Given the description of an element on the screen output the (x, y) to click on. 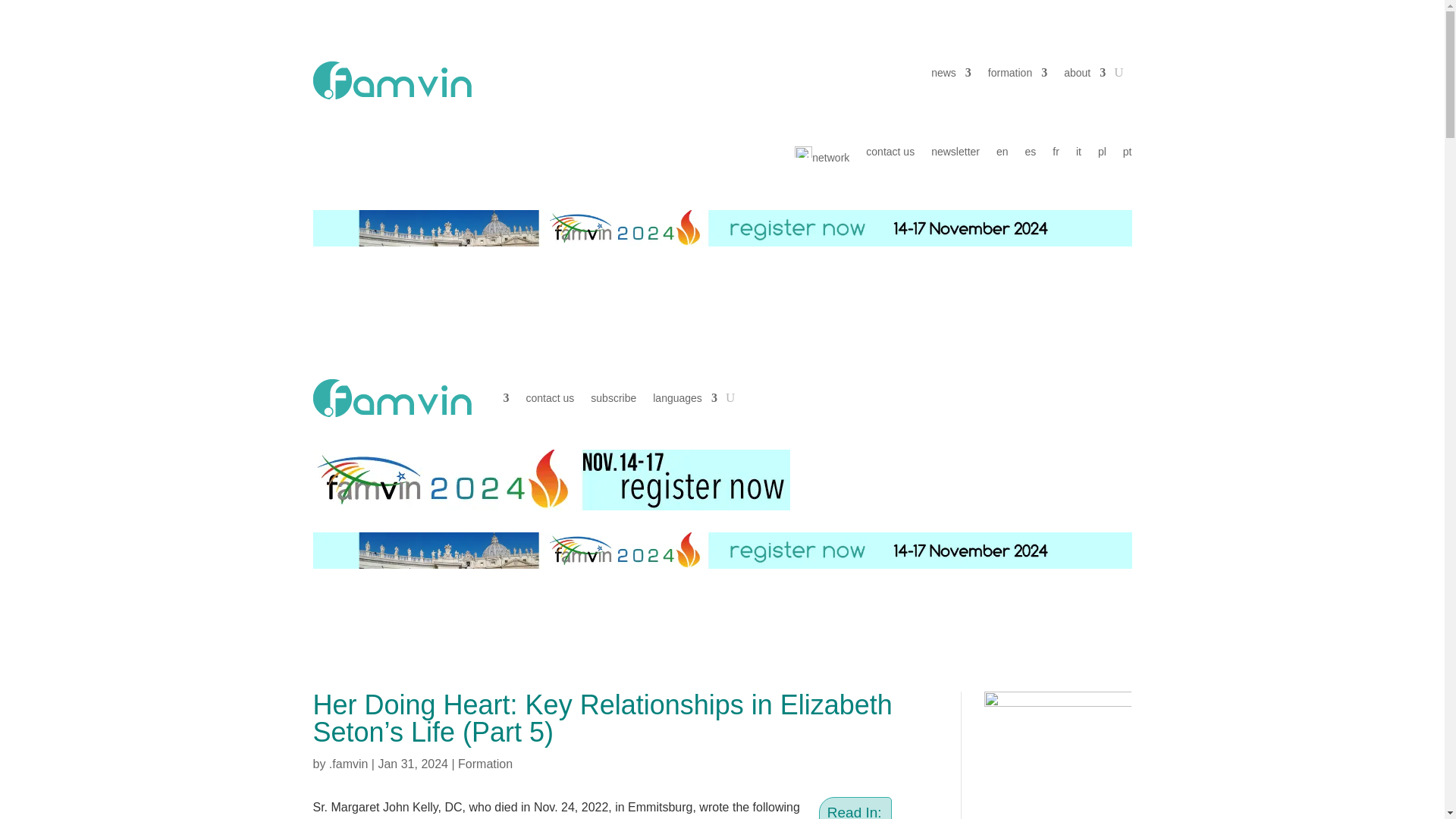
news (951, 75)
formation (1017, 75)
Posts by .famvin (348, 763)
dot-famvin-35afaa-50px (391, 80)
newsletter (955, 157)
about (1084, 75)
famvin 2024 banner mobile 2 (551, 479)
network (821, 157)
Registration-Information-Famvin-2024-1 (722, 550)
contact us (890, 157)
Registration-Information-Famvin-2024-1 (722, 227)
